Given the description of an element on the screen output the (x, y) to click on. 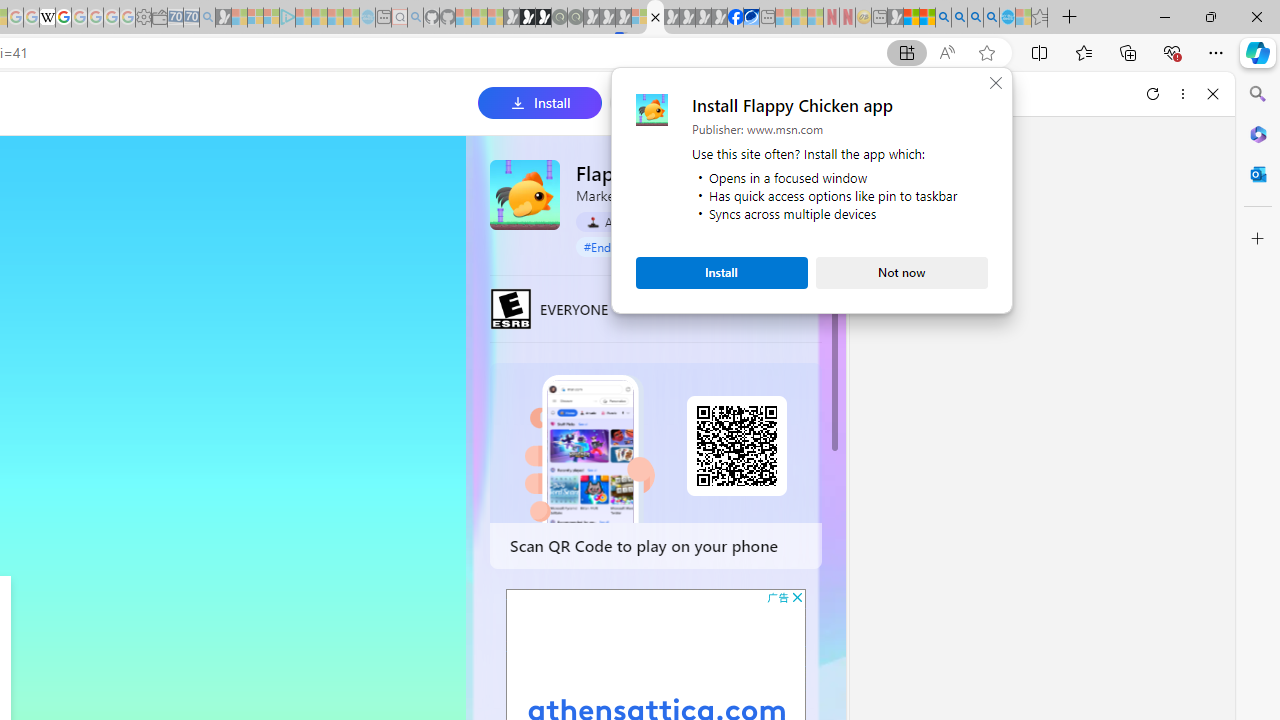
MSN - Sleeping (895, 17)
Google Chrome Internet Browser Download - Search Images (991, 17)
github - Search - Sleeping (415, 17)
AirNow.gov (751, 17)
